Given the description of an element on the screen output the (x, y) to click on. 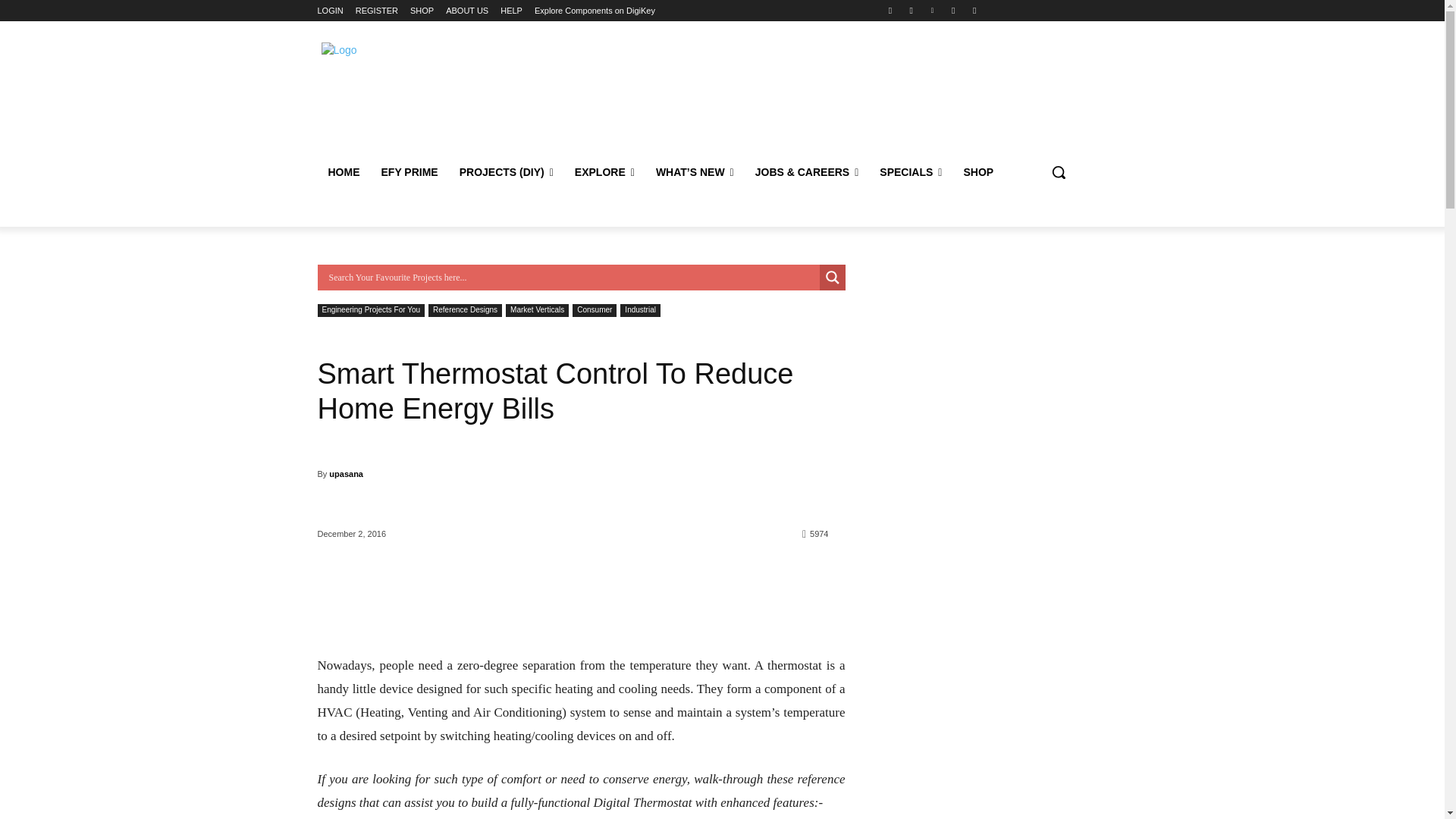
Facebook (889, 9)
Twitter (953, 9)
Linkedin (931, 9)
Instagram (911, 9)
Youtube (975, 9)
